Given the description of an element on the screen output the (x, y) to click on. 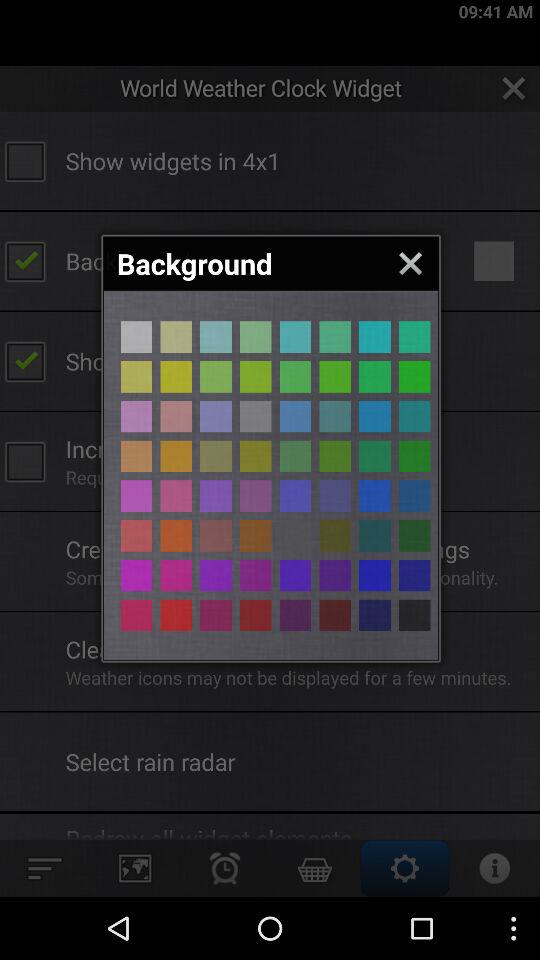
select purple background (176, 416)
